Given the description of an element on the screen output the (x, y) to click on. 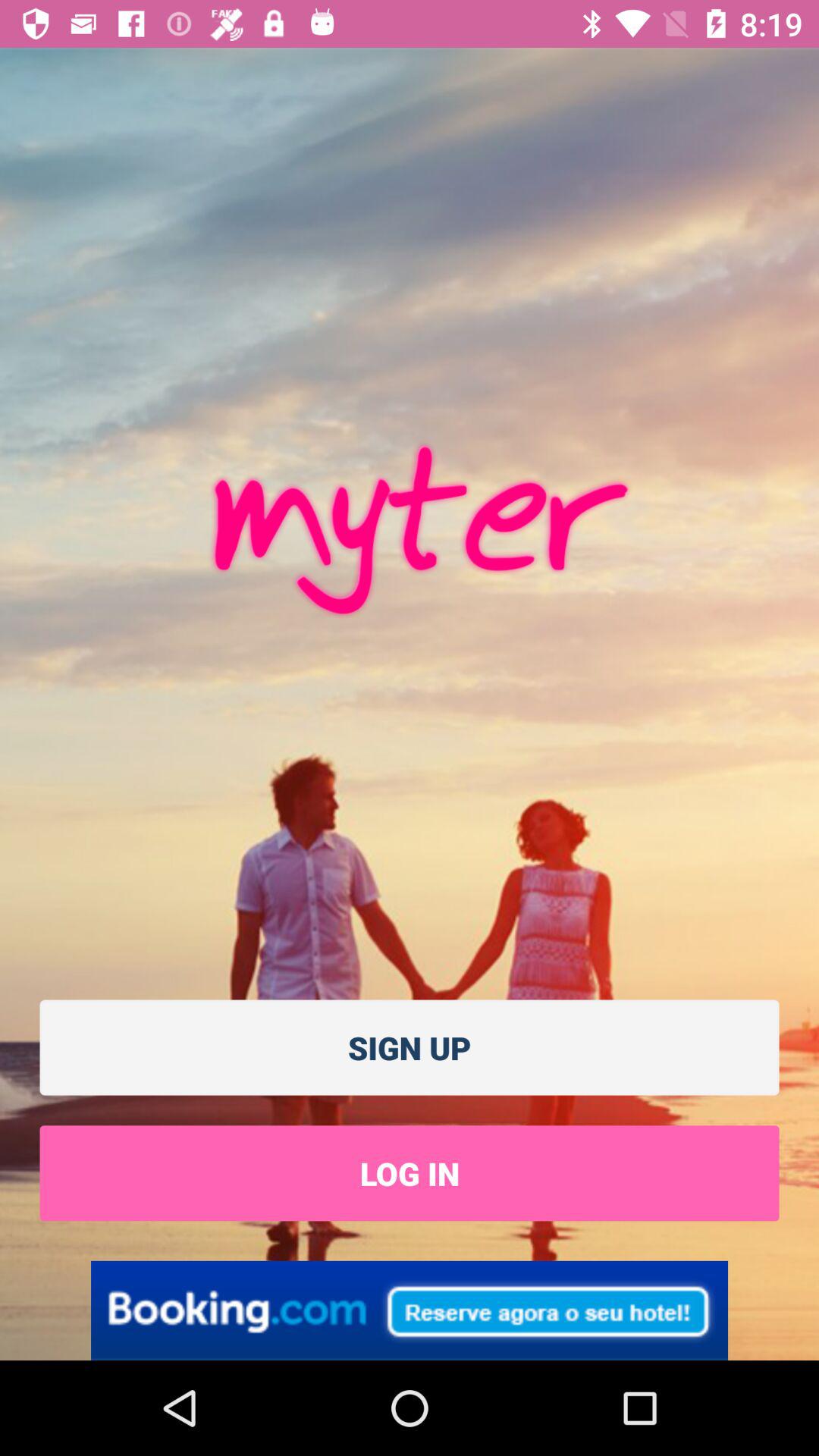
go to this advertised product (409, 1310)
